Given the description of an element on the screen output the (x, y) to click on. 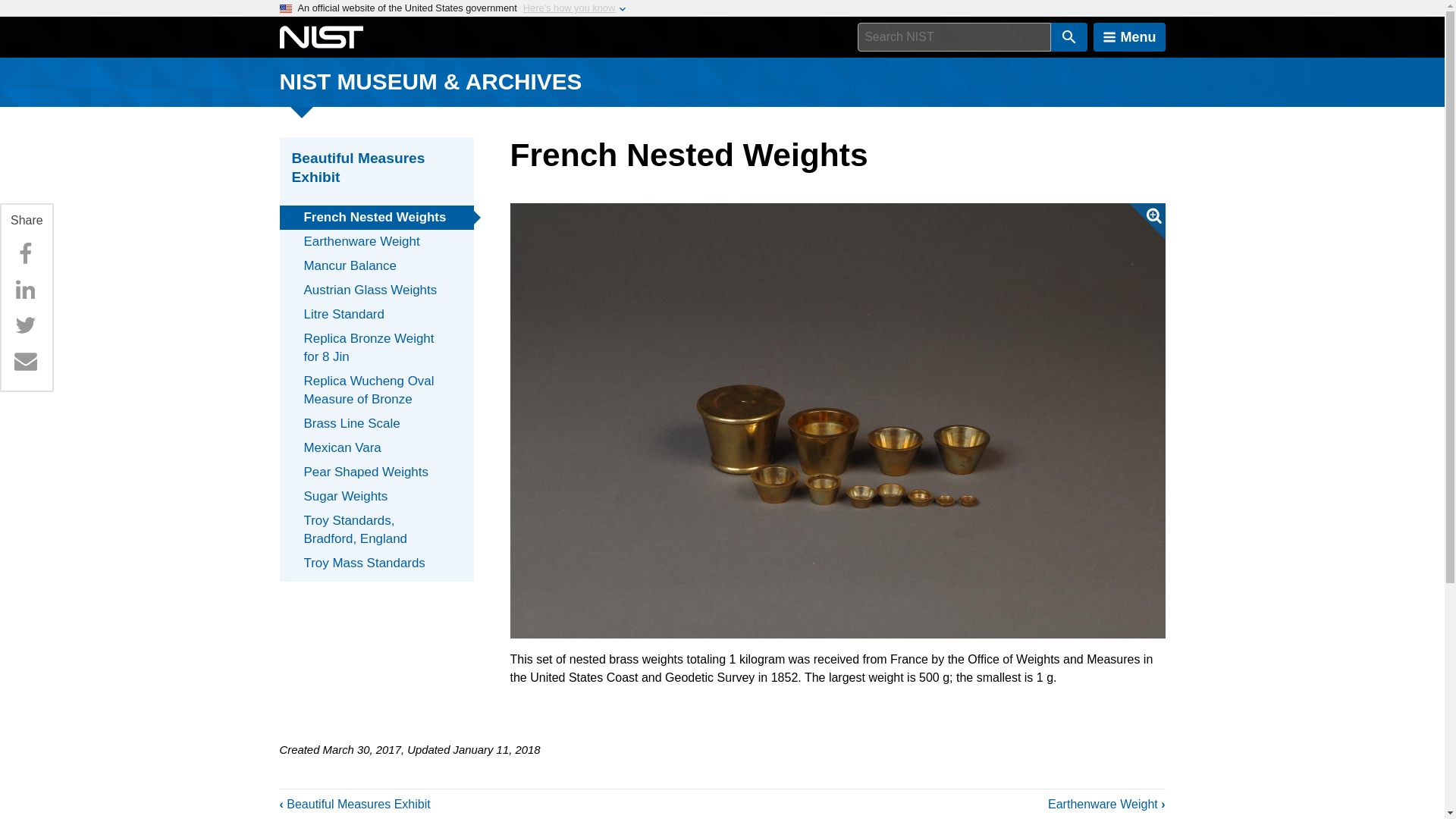
Sugar Weights (376, 496)
Pear Shaped Weights (376, 472)
Email (25, 360)
Mexican Vara (376, 447)
Replica Bronze Weight for 8 Jin (376, 347)
Twitter (25, 325)
Troy Mass Standards (376, 563)
Menu (1129, 36)
French Nested Weights (376, 217)
Go to next page (1106, 804)
Mancur Balance (376, 265)
Troy Standards, Bradford, England (376, 529)
National Institute of Standards and Technology (320, 36)
Beautiful Measures Exhibit (376, 168)
